Given the description of an element on the screen output the (x, y) to click on. 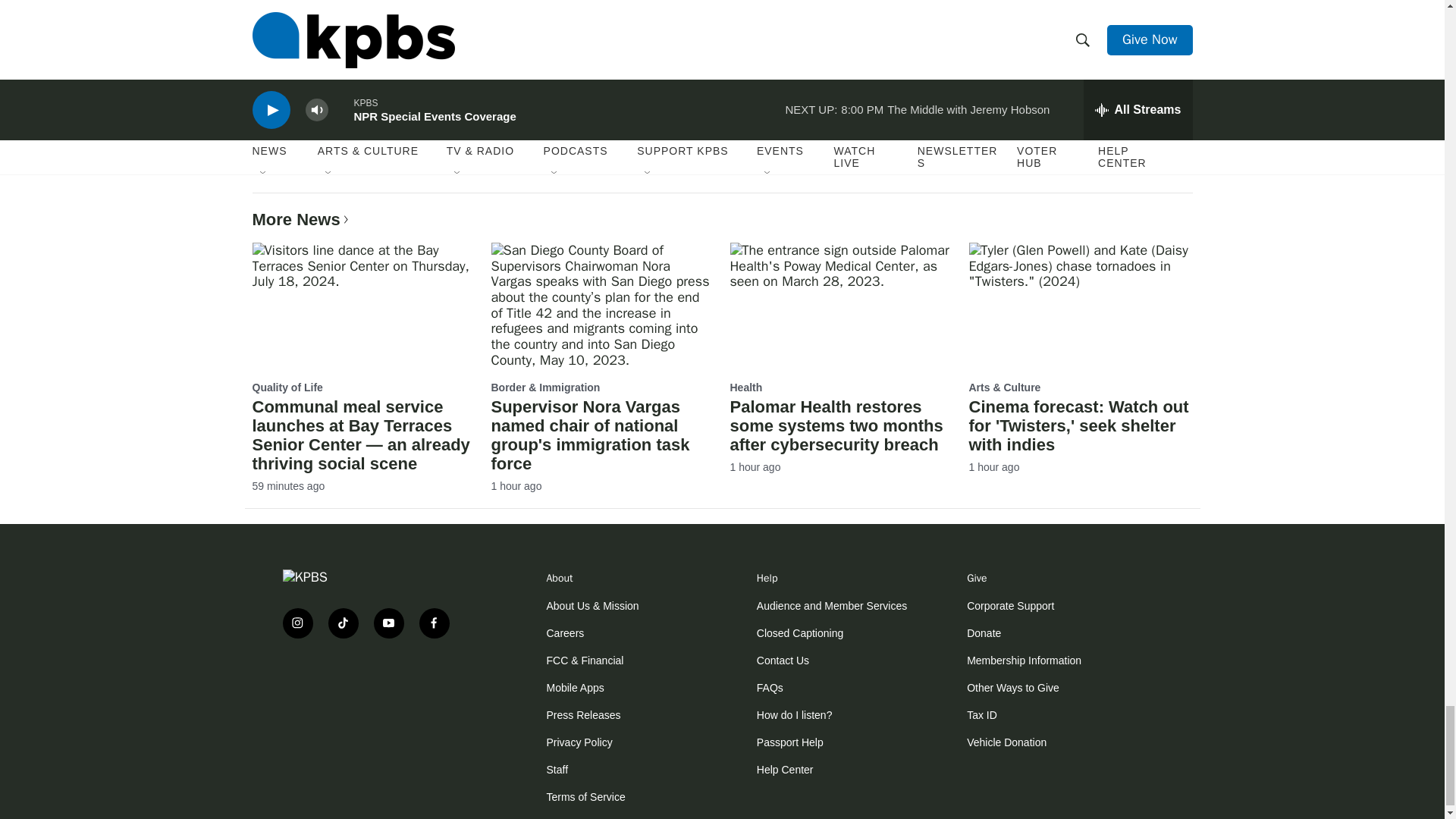
3rd party ad content (373, 698)
